Given the description of an element on the screen output the (x, y) to click on. 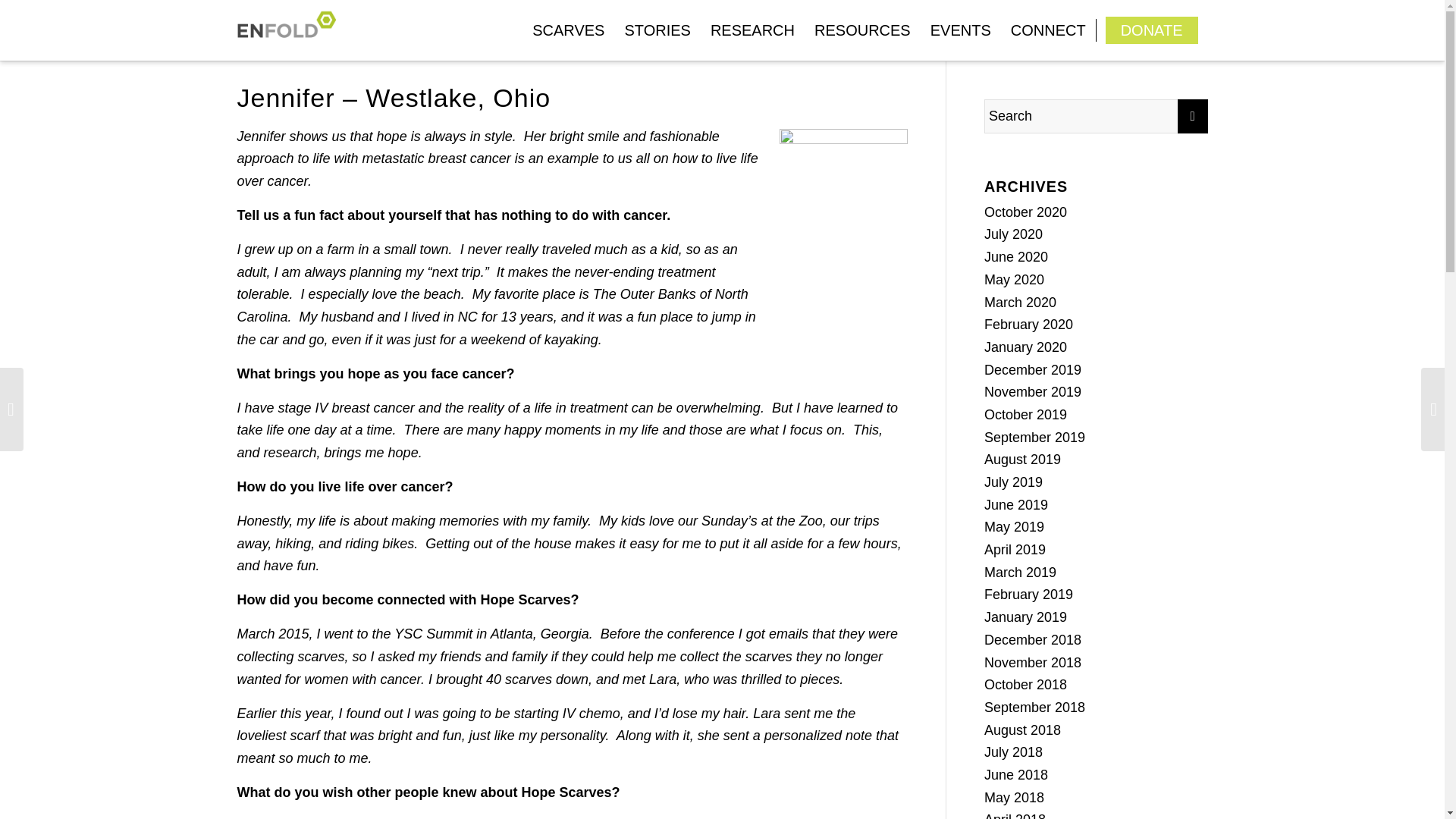
CONNECT (1048, 30)
July 2020 (1013, 233)
May 2019 (1013, 526)
EVENTS (960, 30)
RESOURCES (862, 30)
March 2019 (1020, 572)
SCARVES (568, 30)
November 2019 (1032, 391)
February 2020 (1028, 324)
December 2018 (1032, 639)
July 2019 (1013, 482)
September 2019 (1034, 437)
STORIES (657, 30)
August 2019 (1022, 459)
November 2018 (1032, 662)
